Given the description of an element on the screen output the (x, y) to click on. 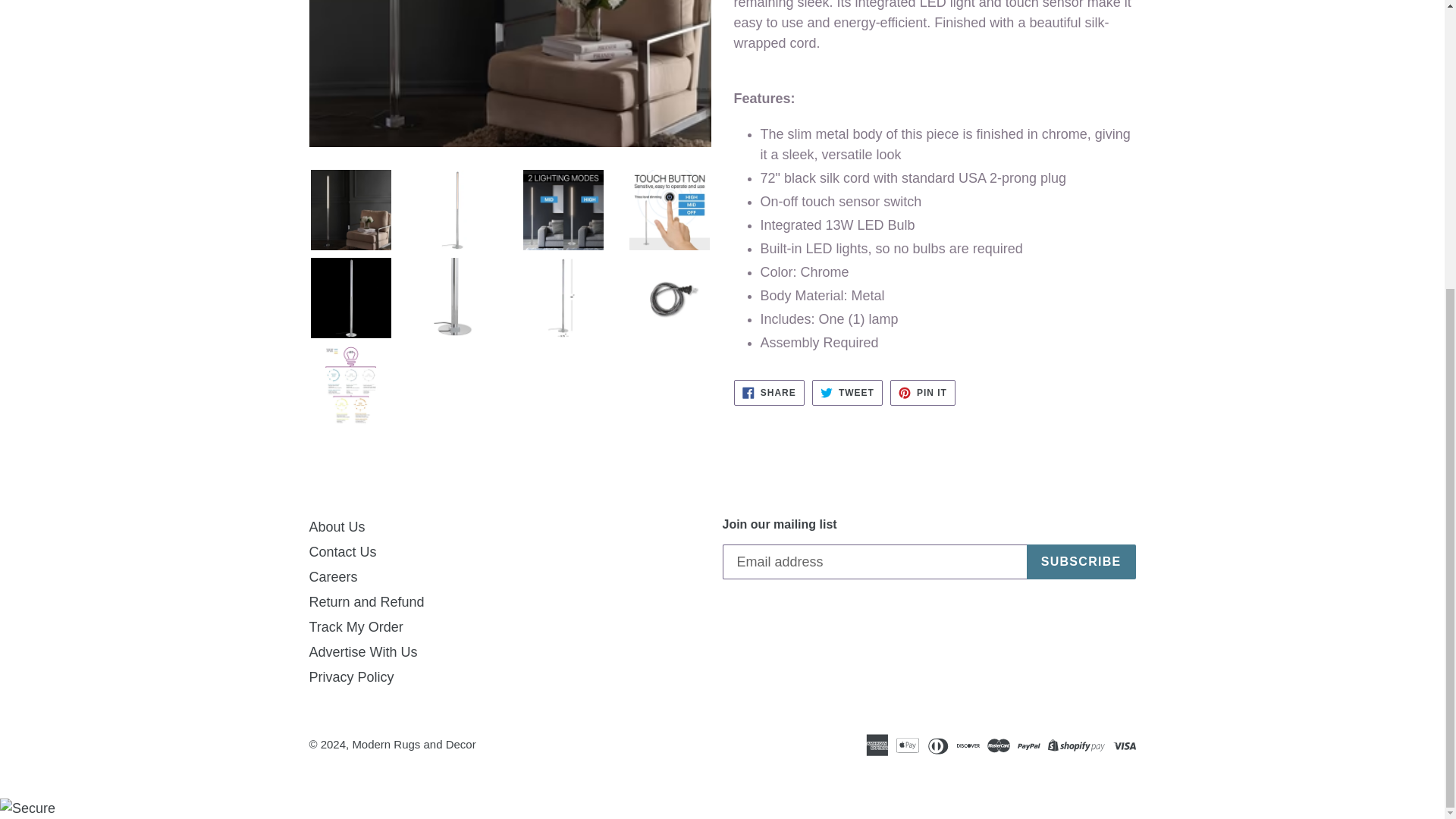
Pin on Pinterest (922, 392)
Tweet on Twitter (847, 392)
Share on Facebook (769, 392)
